Given the description of an element on the screen output the (x, y) to click on. 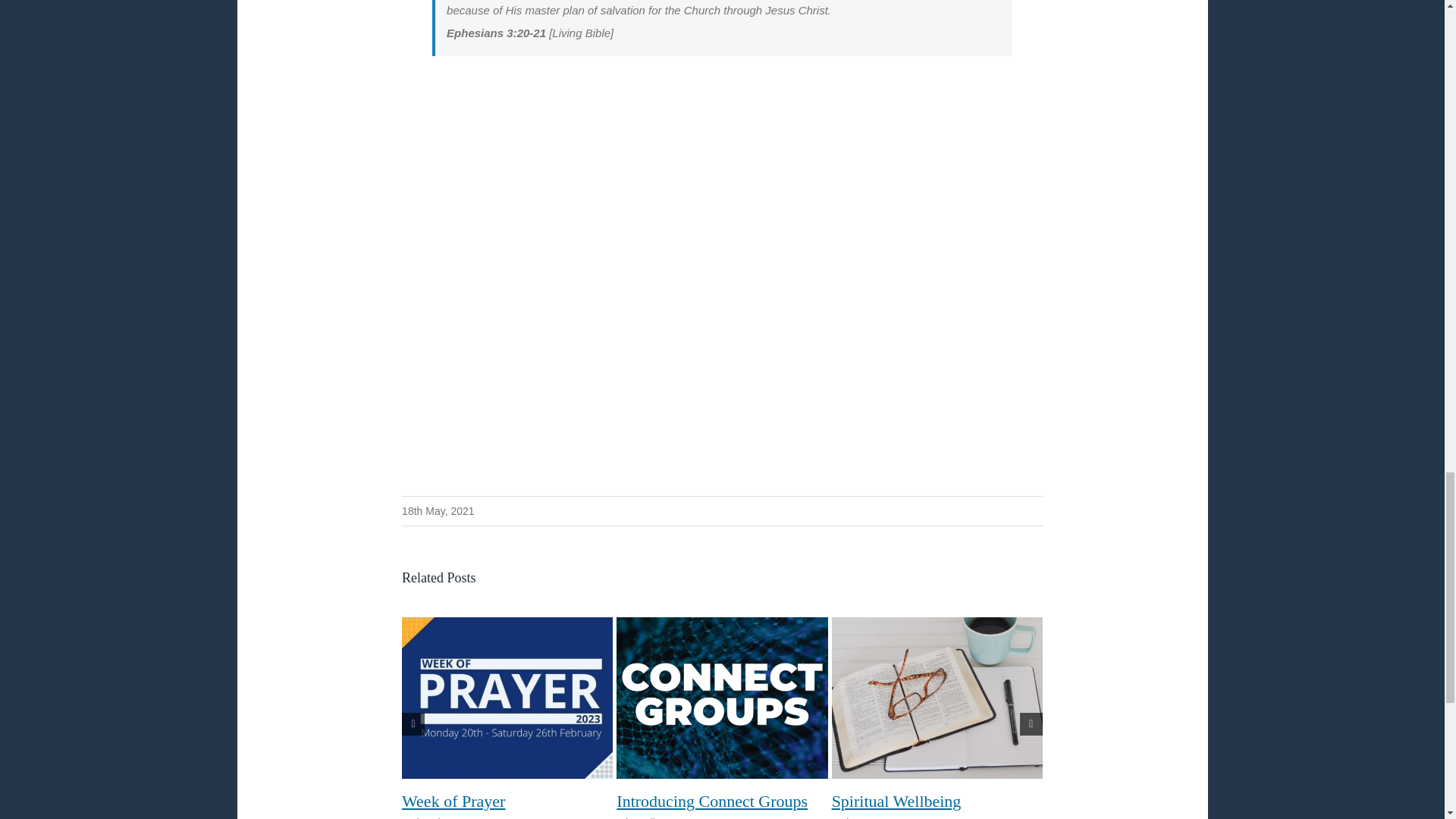
Week of Prayer (453, 800)
Introducing Connect Groups (711, 800)
Spiritual Wellbeing (895, 800)
